Given the description of an element on the screen output the (x, y) to click on. 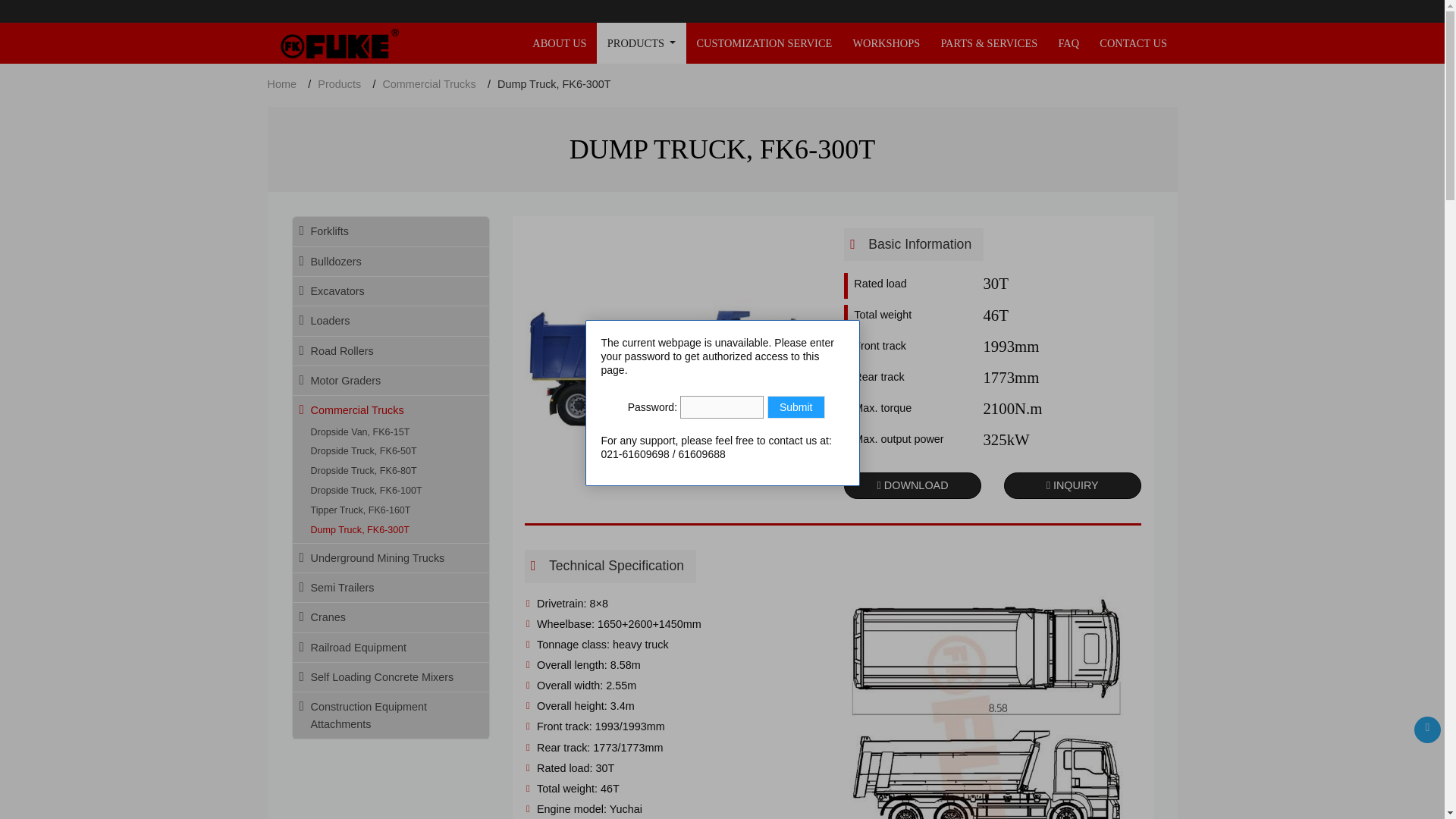
Submit (796, 406)
ABOUT US (559, 42)
PRODUCTS (640, 42)
